Given the description of an element on the screen output the (x, y) to click on. 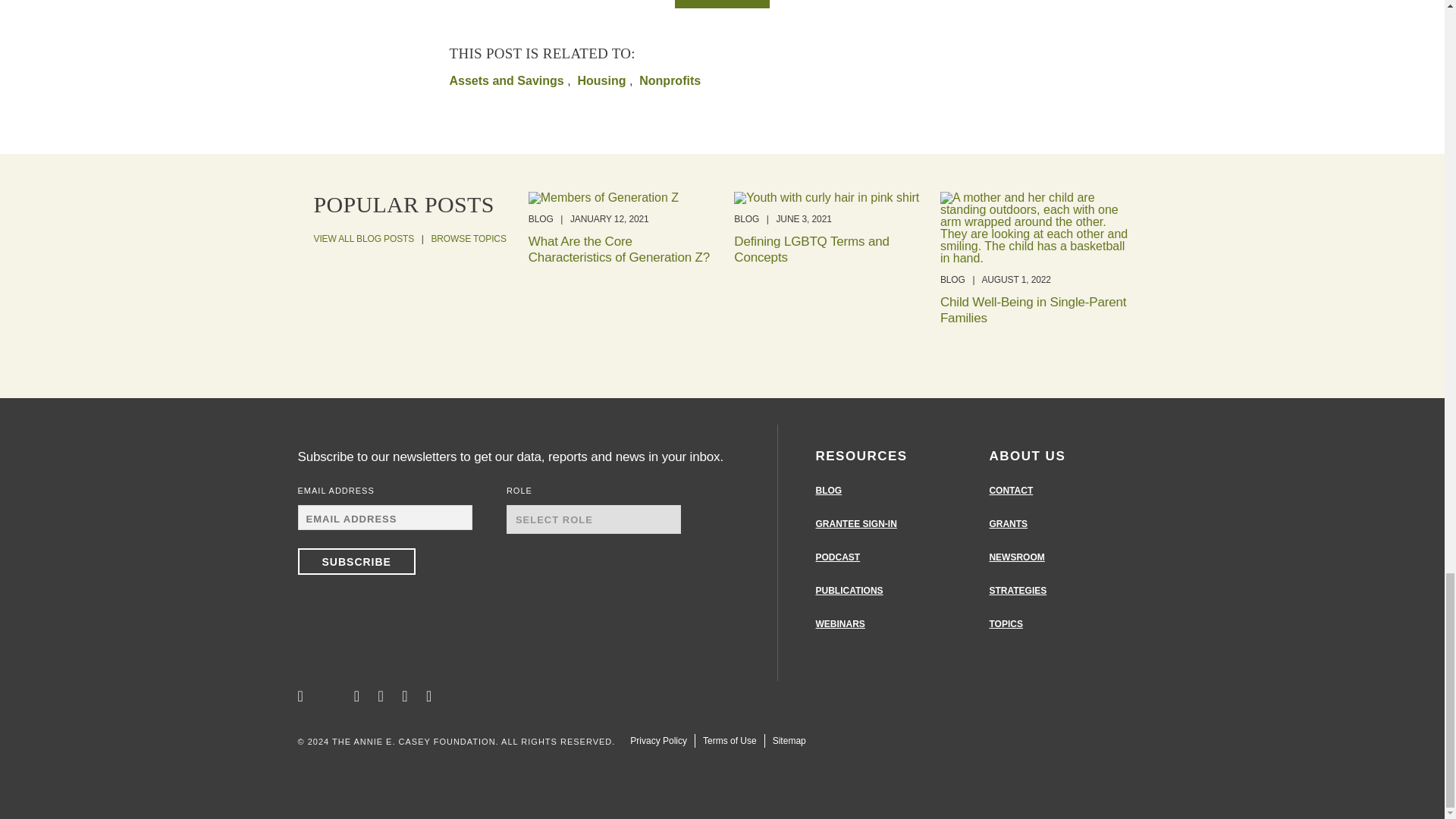
Subscribe (355, 560)
